Given the description of an element on the screen output the (x, y) to click on. 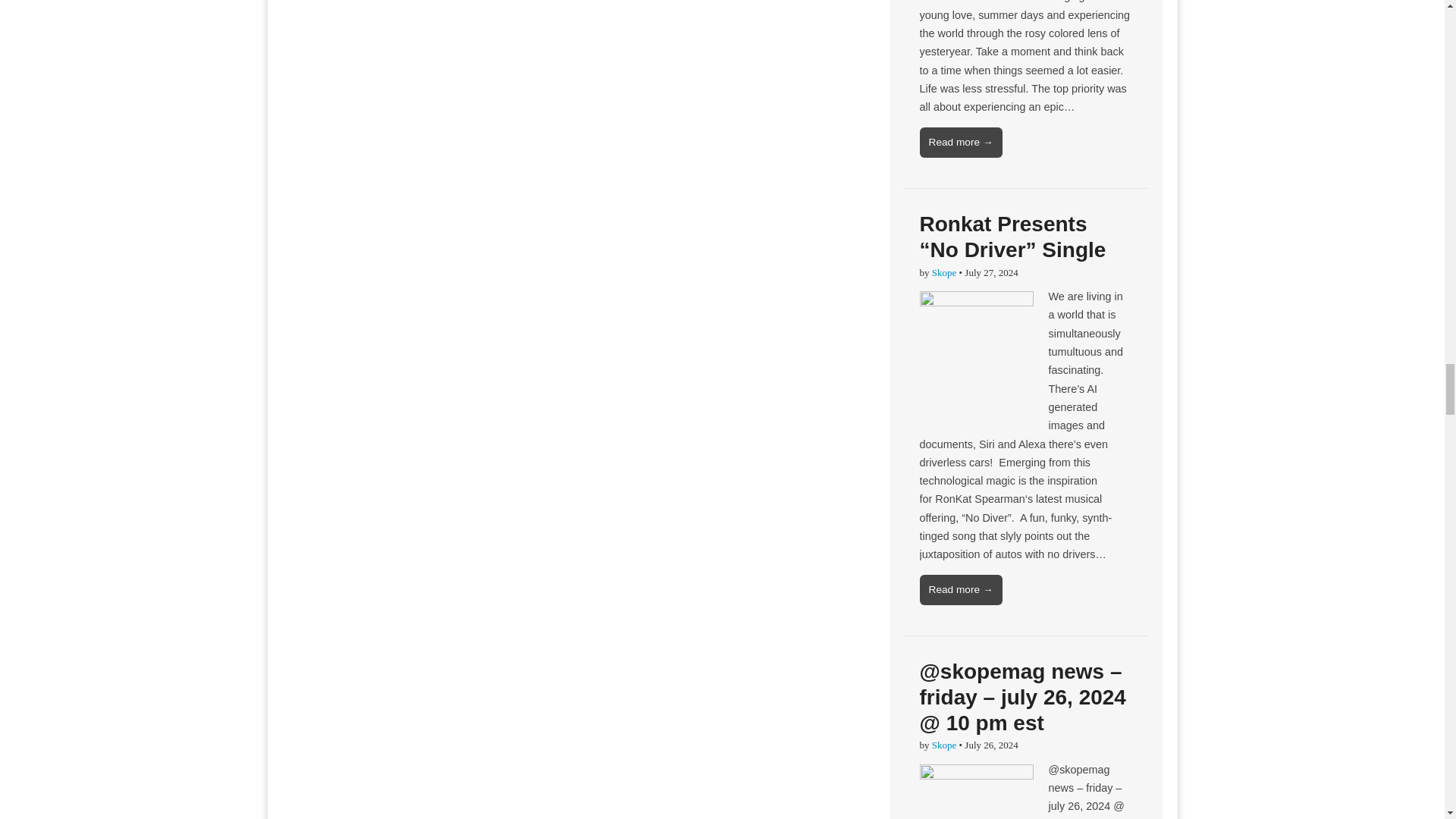
Posts by Skope (943, 272)
Posts by Skope (943, 745)
